Given the description of an element on the screen output the (x, y) to click on. 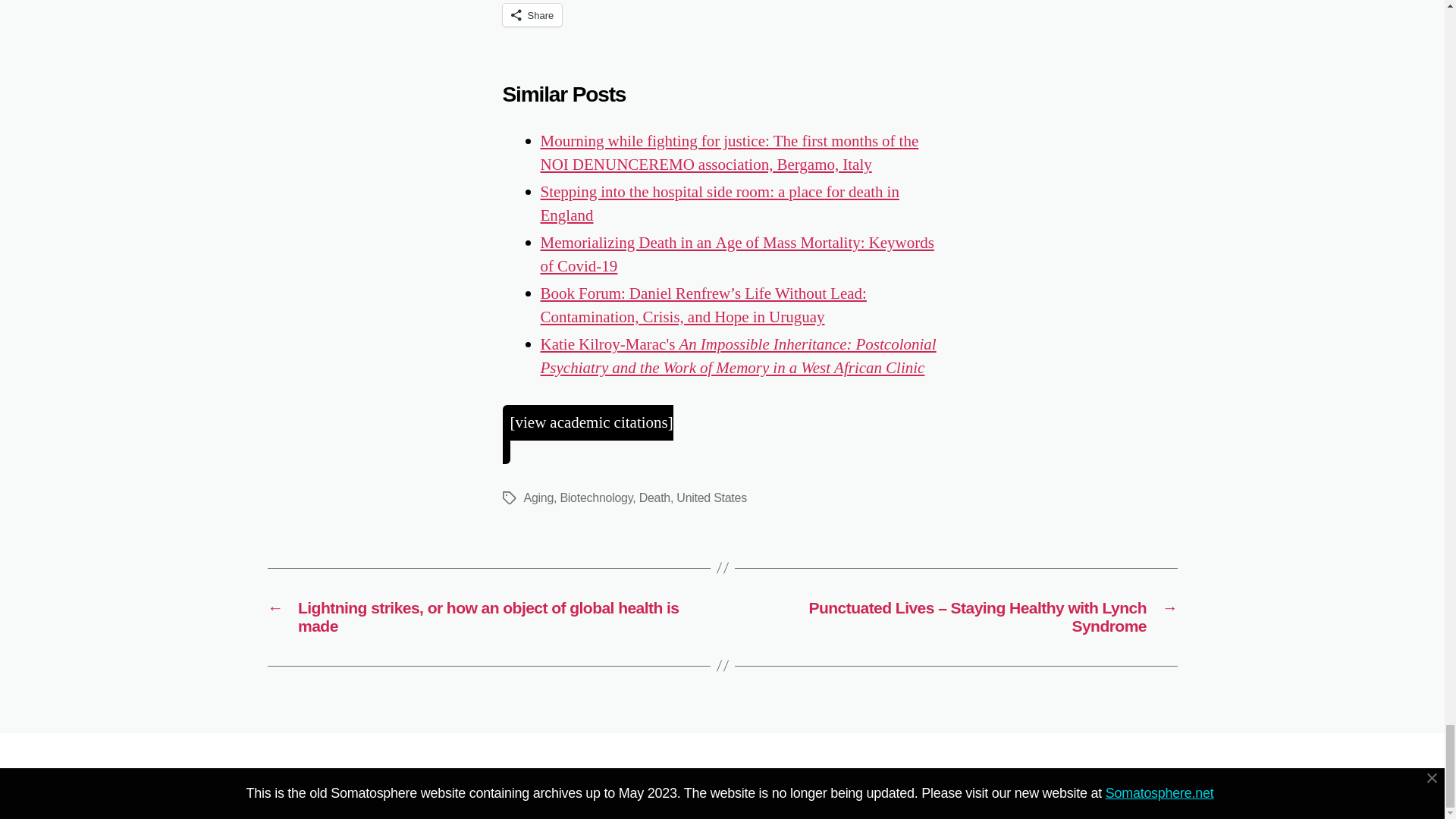
Share (532, 15)
